Given the description of an element on the screen output the (x, y) to click on. 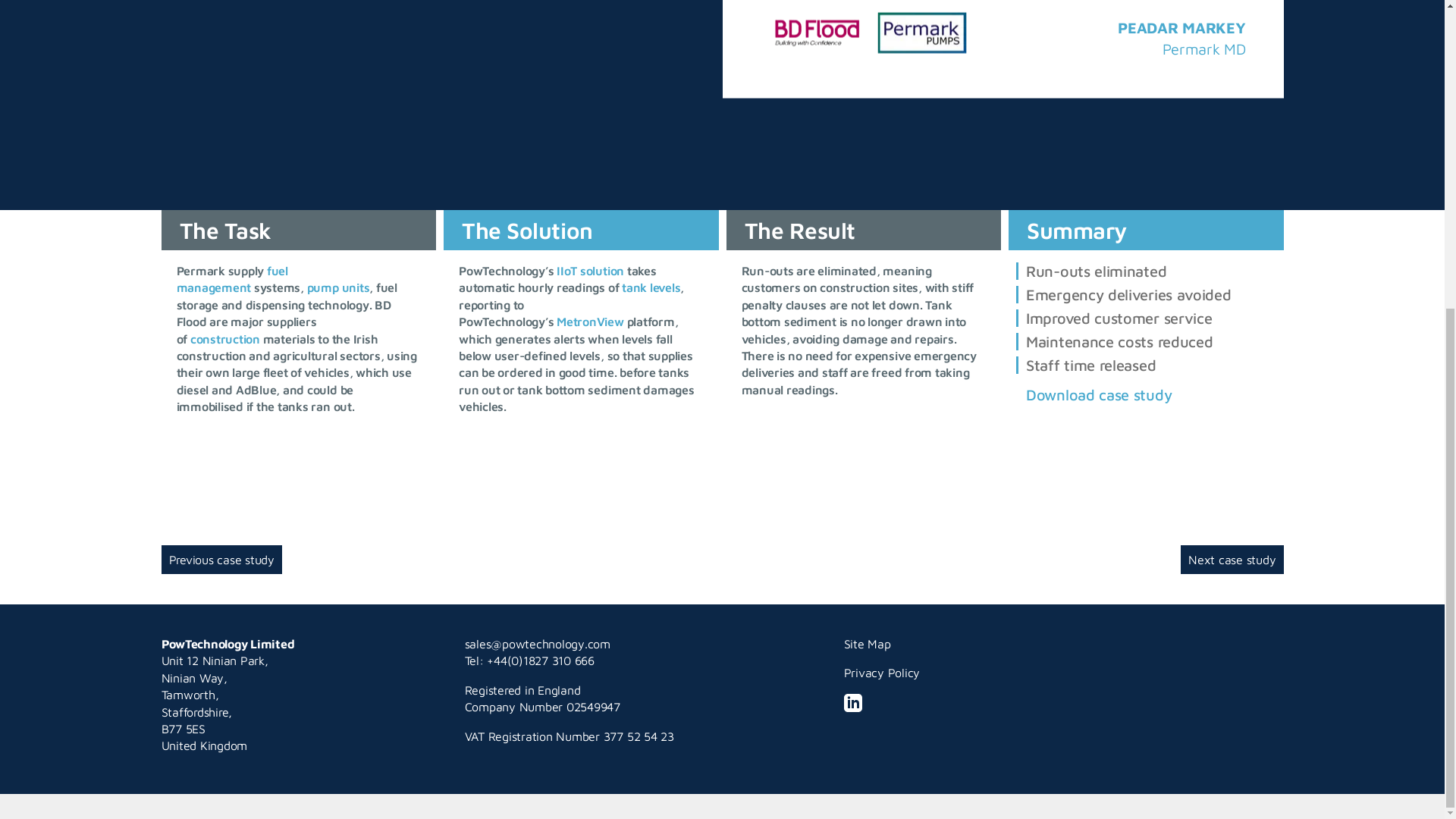
MetronView IIoT Platform (590, 321)
Fuel Management (231, 278)
Construction (225, 338)
Remote Tank Level Monitoring (650, 287)
